Given the description of an element on the screen output the (x, y) to click on. 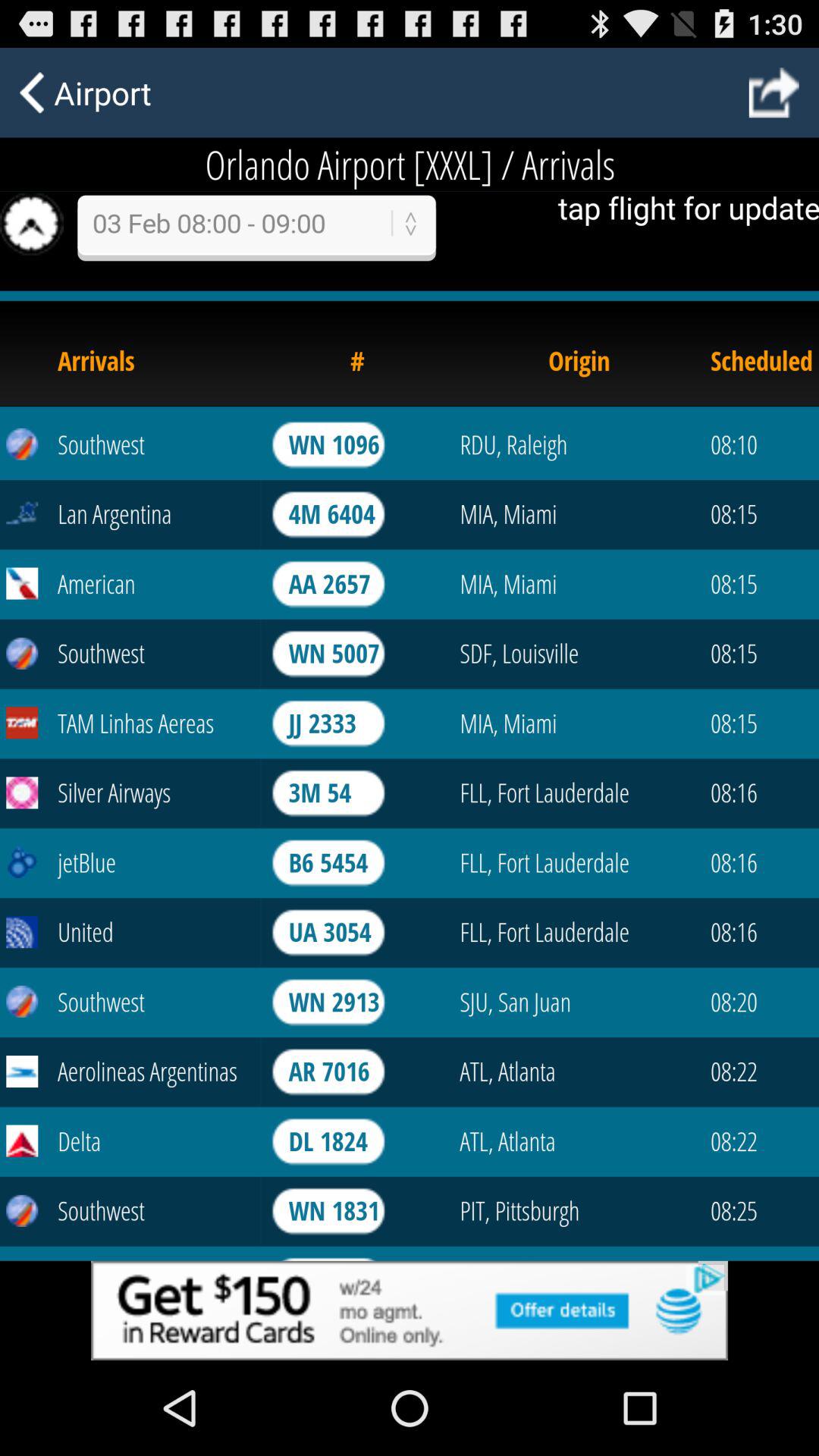
next page (774, 92)
